Given the description of an element on the screen output the (x, y) to click on. 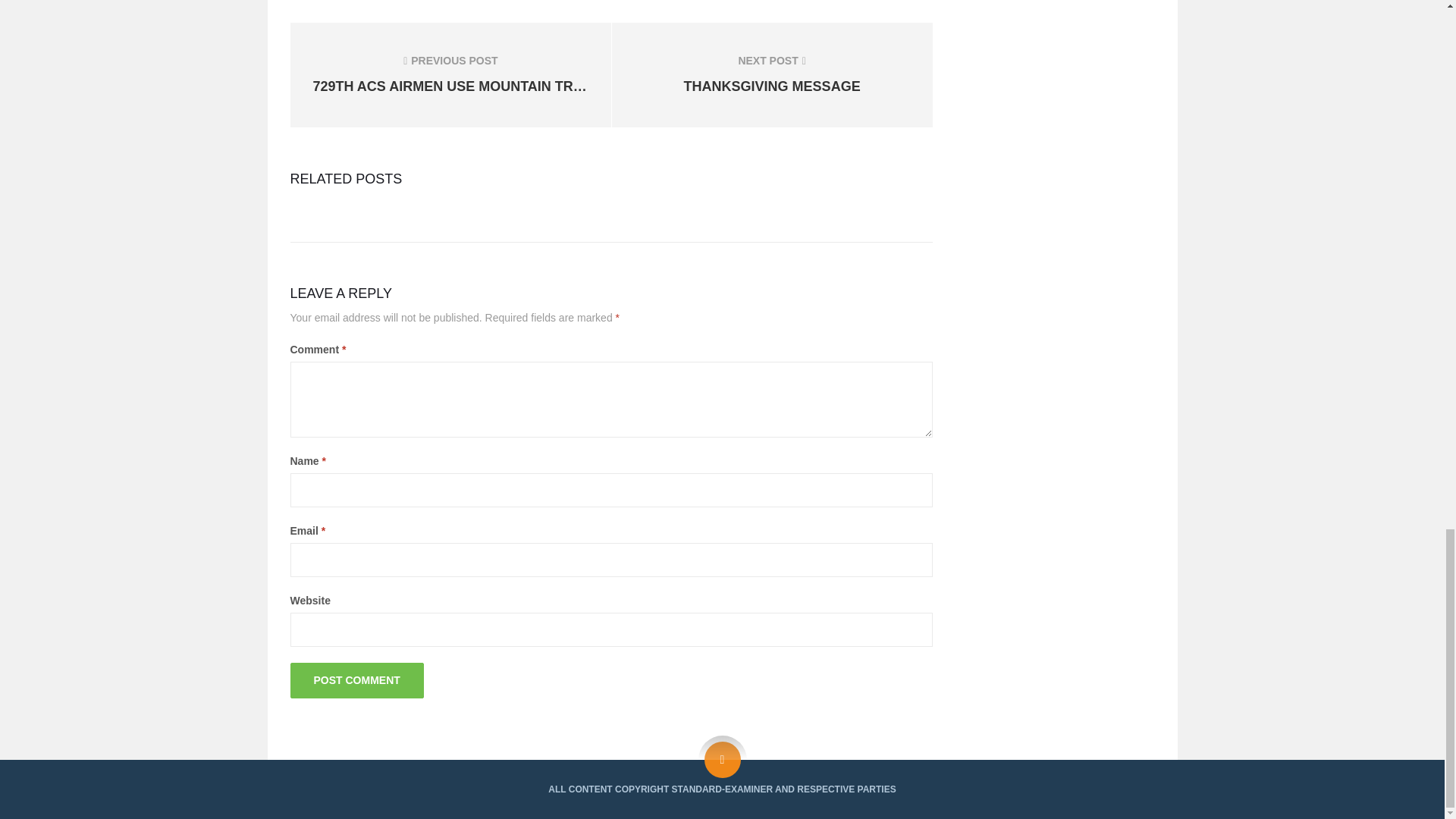
Post Comment (356, 680)
